Given the description of an element on the screen output the (x, y) to click on. 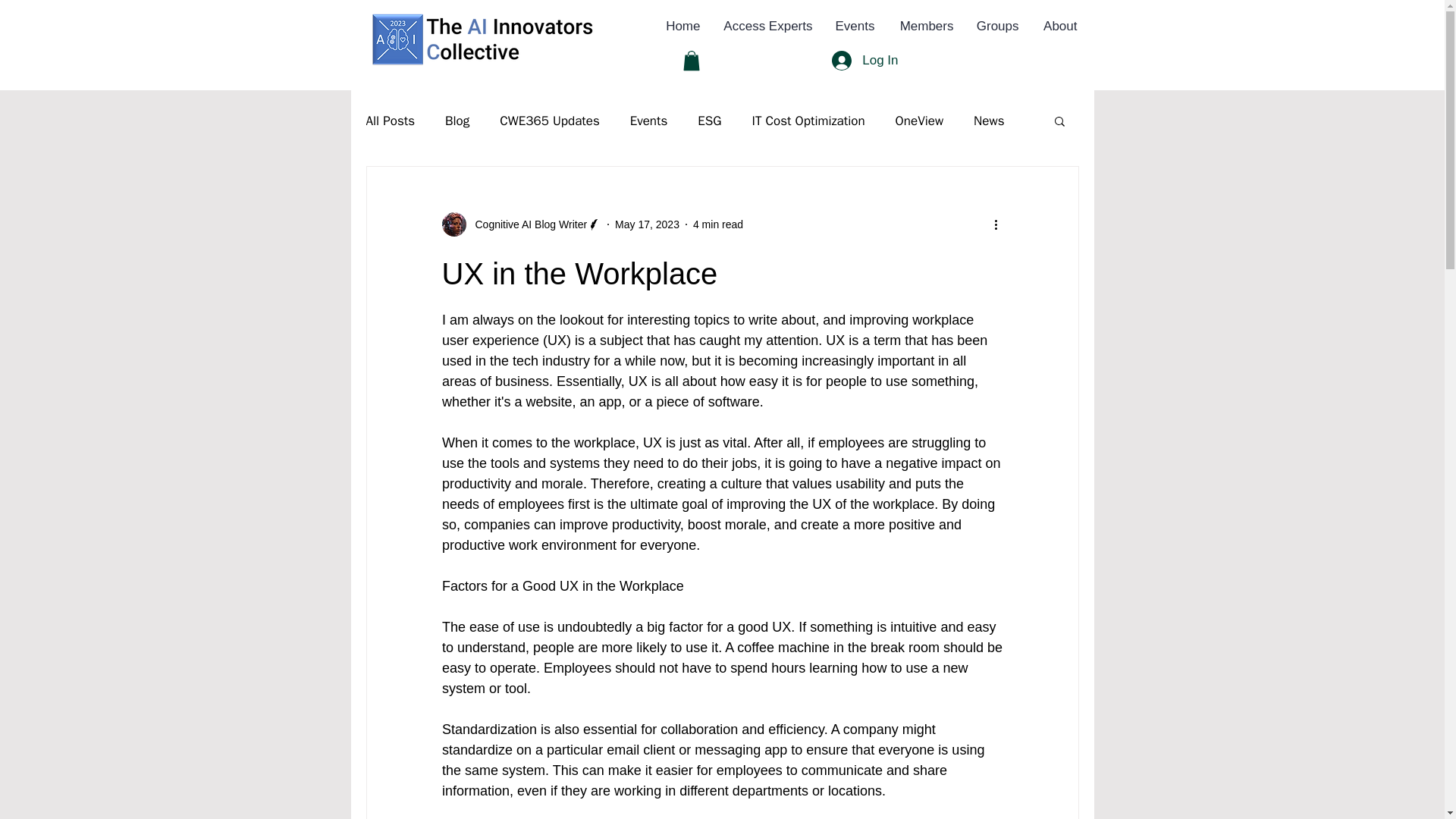
ESG (708, 120)
Log In (864, 60)
4 min read (717, 224)
Home (681, 26)
IT Cost Optimization (808, 120)
Groups (996, 26)
Cognitive AI Blog Writer (521, 224)
Blog (456, 120)
All Posts (389, 120)
Events (854, 26)
